Given the description of an element on the screen output the (x, y) to click on. 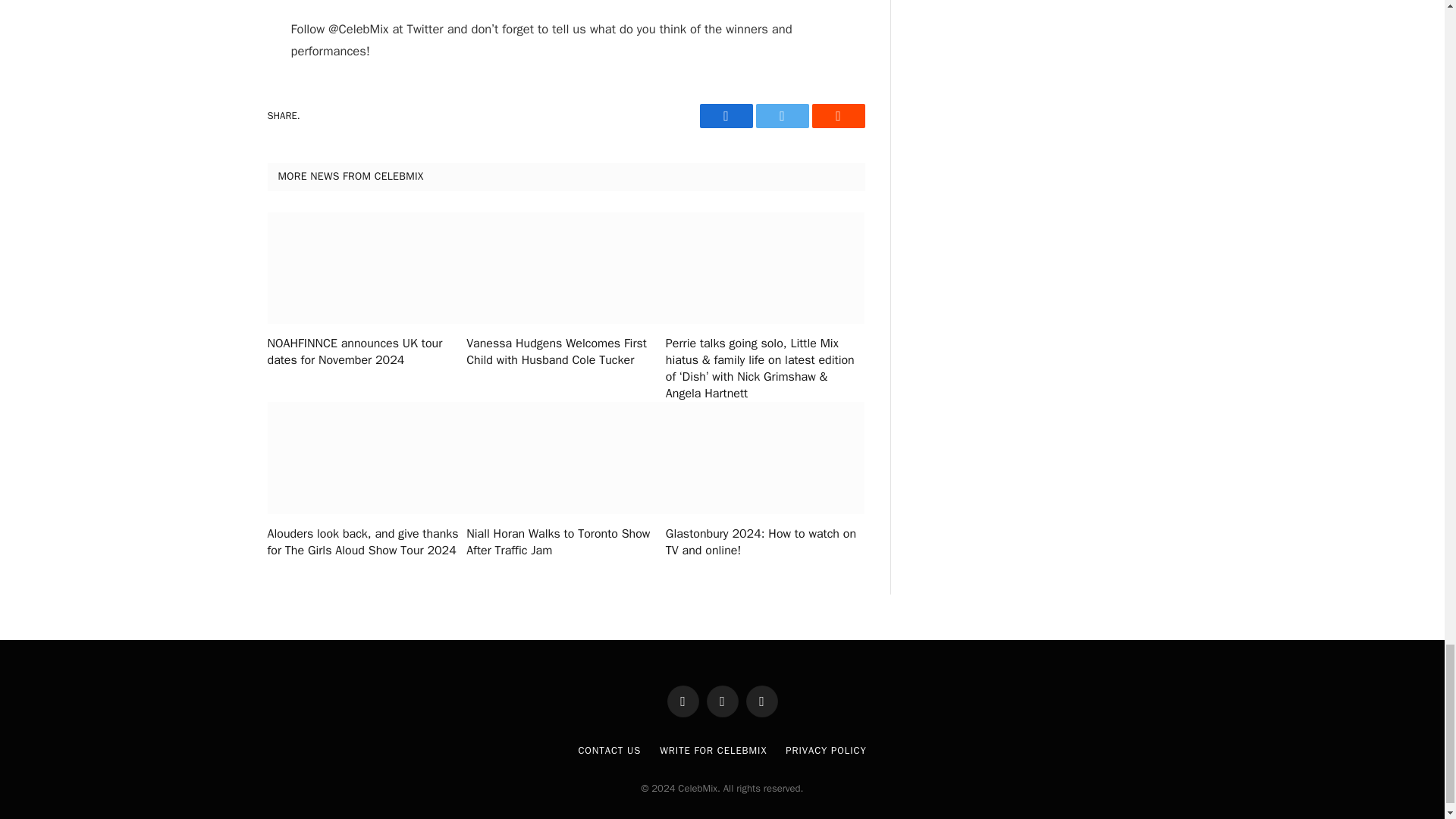
Niall Horan Walks to Toronto Show After Traffic Jam (565, 542)
NOAHFINNCE announces UK tour dates for November 2024 (365, 352)
Reddit (837, 115)
Facebook (725, 115)
Share on Facebook (725, 115)
Twitter (781, 115)
